Given the description of an element on the screen output the (x, y) to click on. 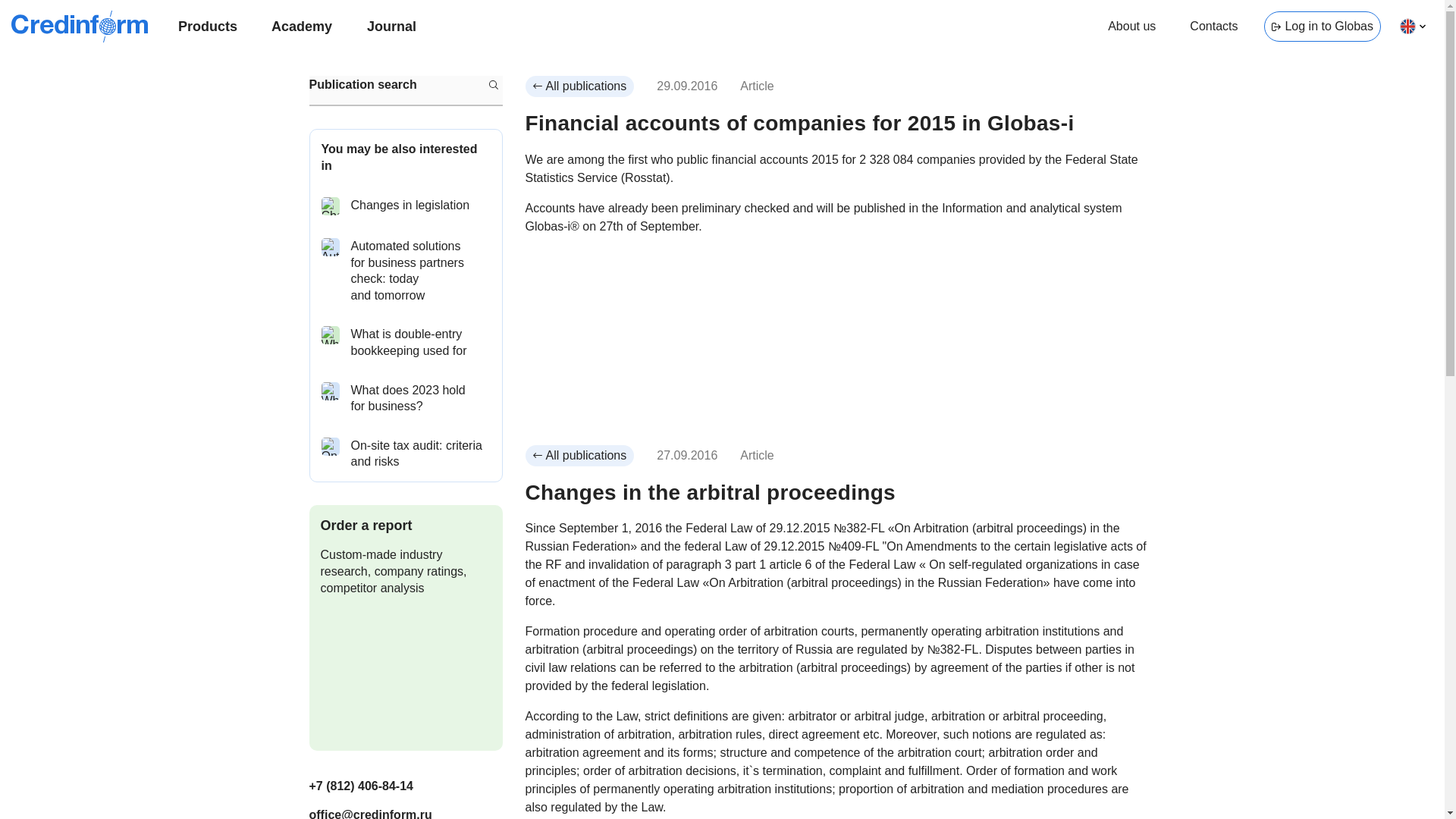
What does 2023 hold for business? (404, 398)
Academy (301, 26)
Changes in legislation (404, 205)
Journal (391, 26)
All publications (578, 455)
All publications (578, 86)
What is double-entry bookkeeping used for  (404, 342)
Products (207, 26)
Contacts (1213, 26)
Log in to Globas (1321, 26)
On-site tax audit: criteria and risks (404, 453)
About us (1131, 26)
